Given the description of an element on the screen output the (x, y) to click on. 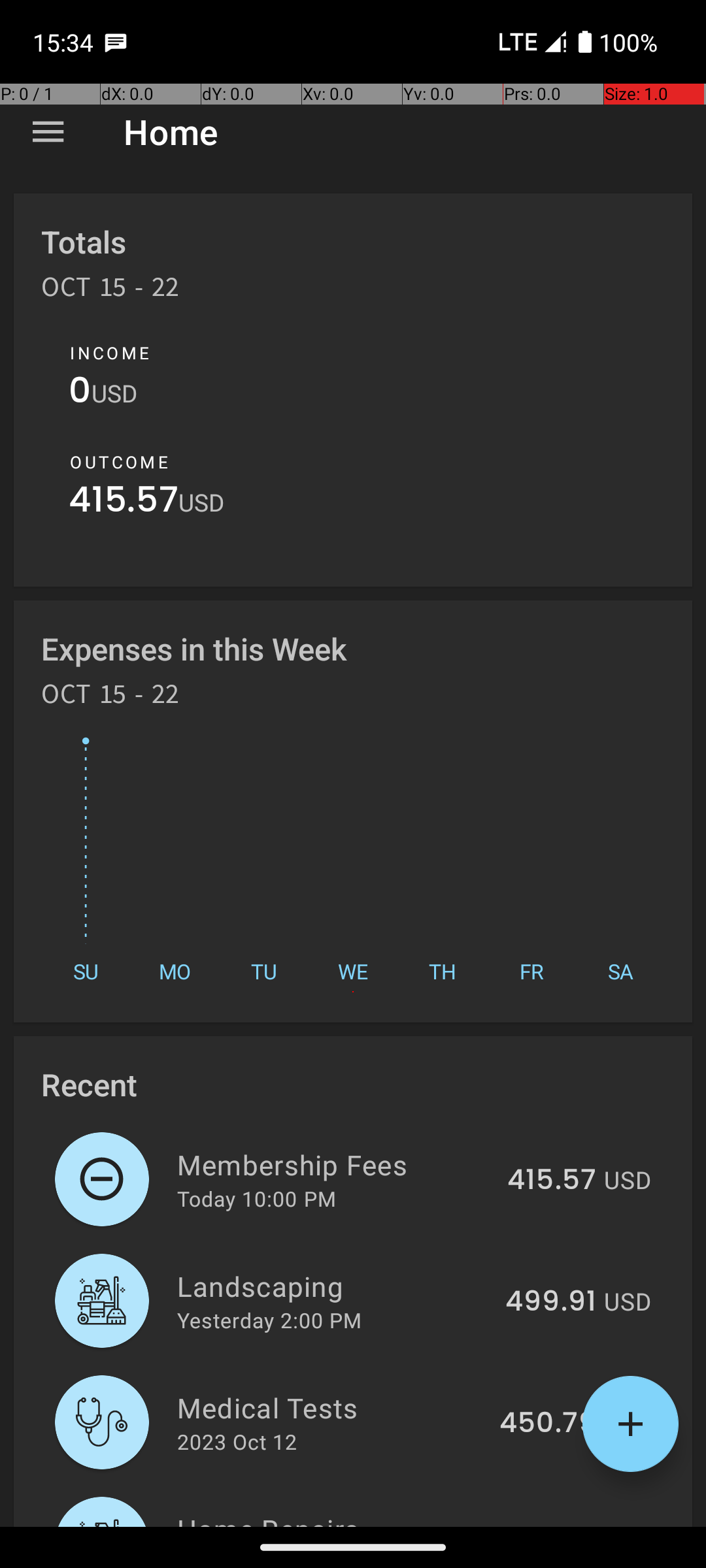
415.57 Element type: android.widget.TextView (123, 502)
Today 10:00 PM Element type: android.widget.TextView (256, 1198)
Landscaping Element type: android.widget.TextView (333, 1285)
Yesterday 2:00 PM Element type: android.widget.TextView (269, 1320)
499.91 Element type: android.widget.TextView (550, 1301)
Medical Tests Element type: android.widget.TextView (330, 1407)
450.79 Element type: android.widget.TextView (547, 1423)
Home Repairs Element type: android.widget.TextView (332, 1518)
268.73 Element type: android.widget.TextView (549, 1524)
